Given the description of an element on the screen output the (x, y) to click on. 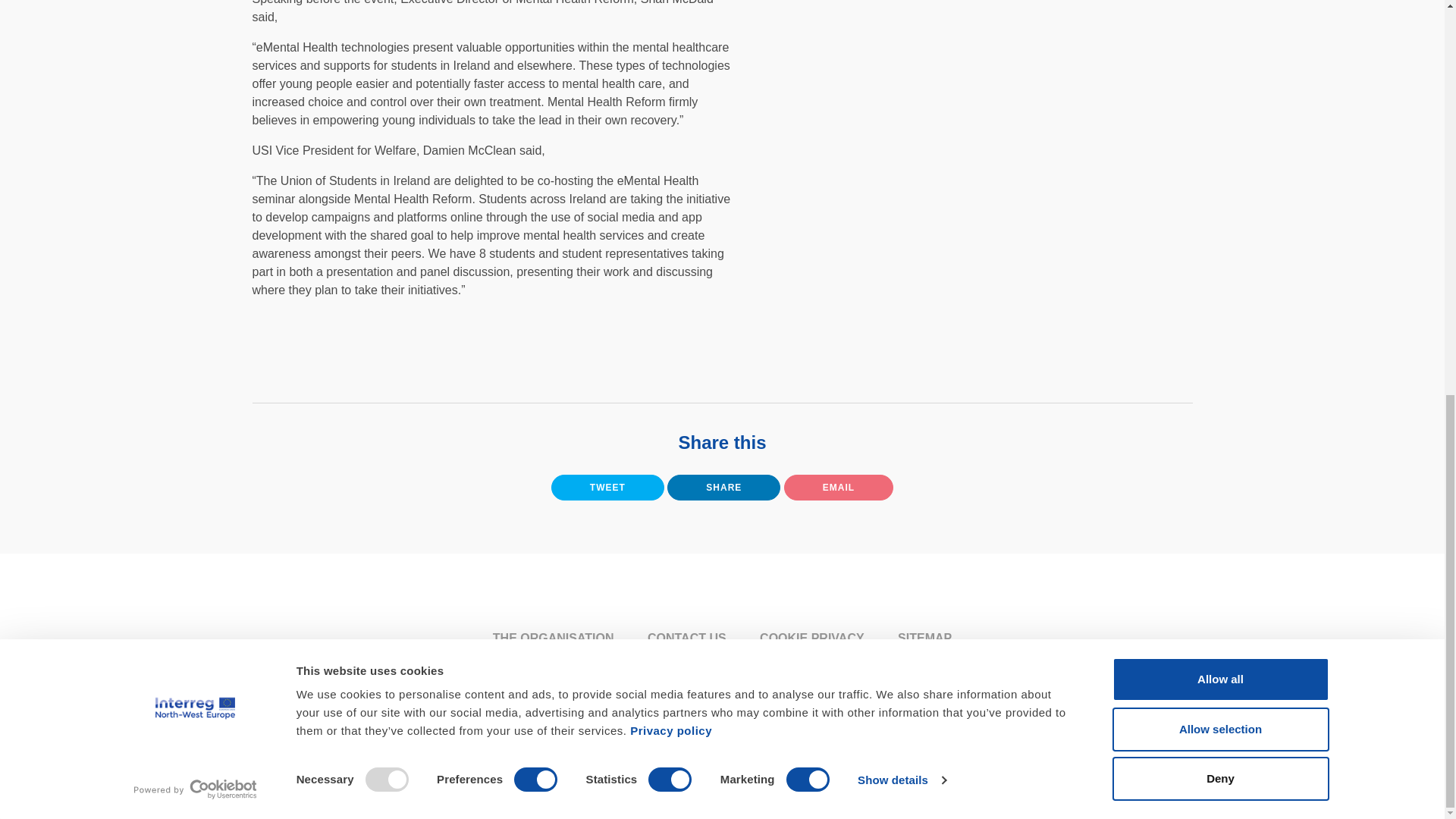
Show details (900, 16)
